Given the description of an element on the screen output the (x, y) to click on. 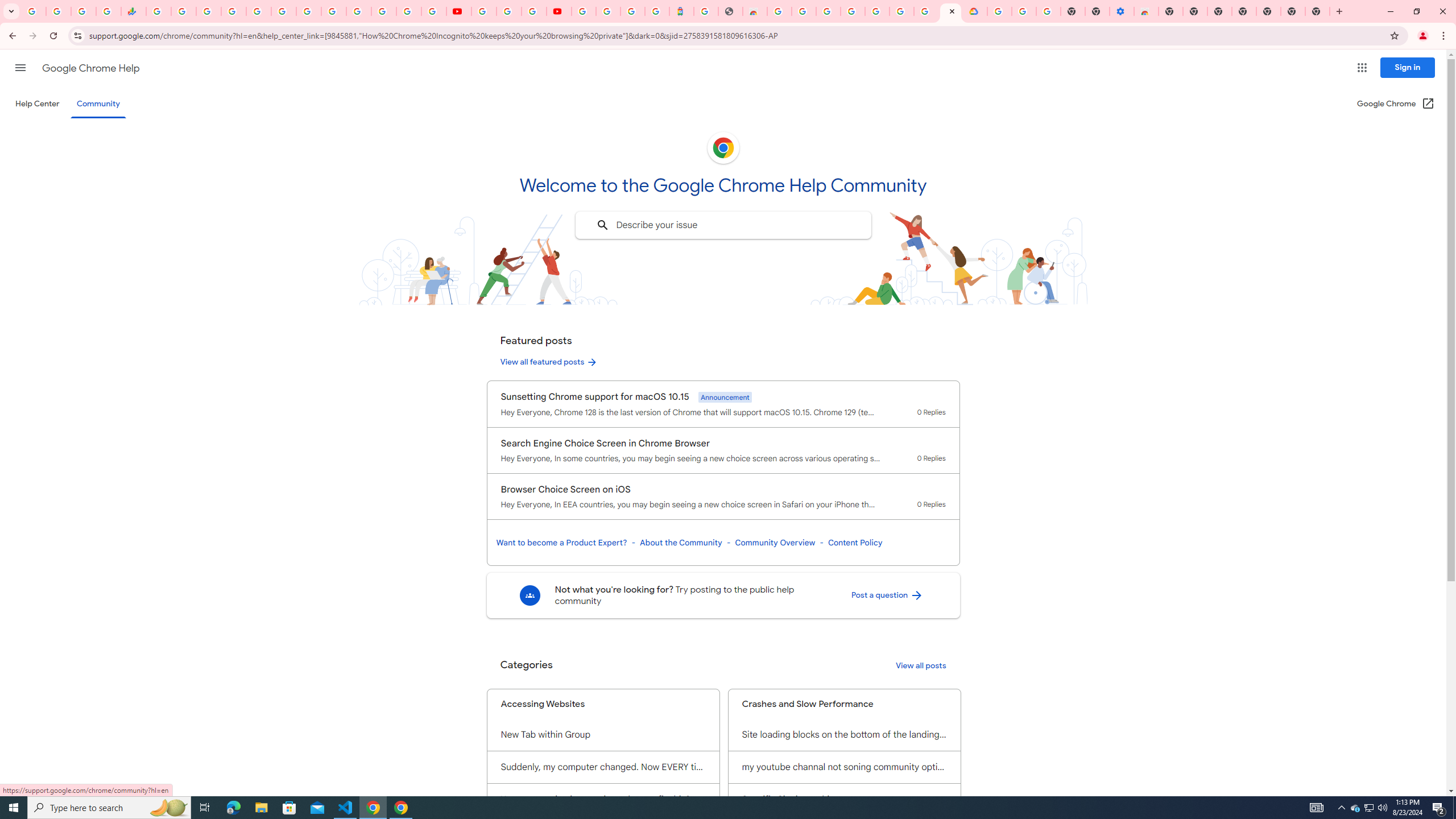
Atour Hotel - Google hotels (680, 11)
Turn cookies on or off - Computer - Google Account Help (1047, 11)
Create your Google Account (925, 11)
YouTube (483, 11)
Community Overview (775, 542)
Sign in - Google Accounts (852, 11)
View all posts (920, 665)
